Given the description of an element on the screen output the (x, y) to click on. 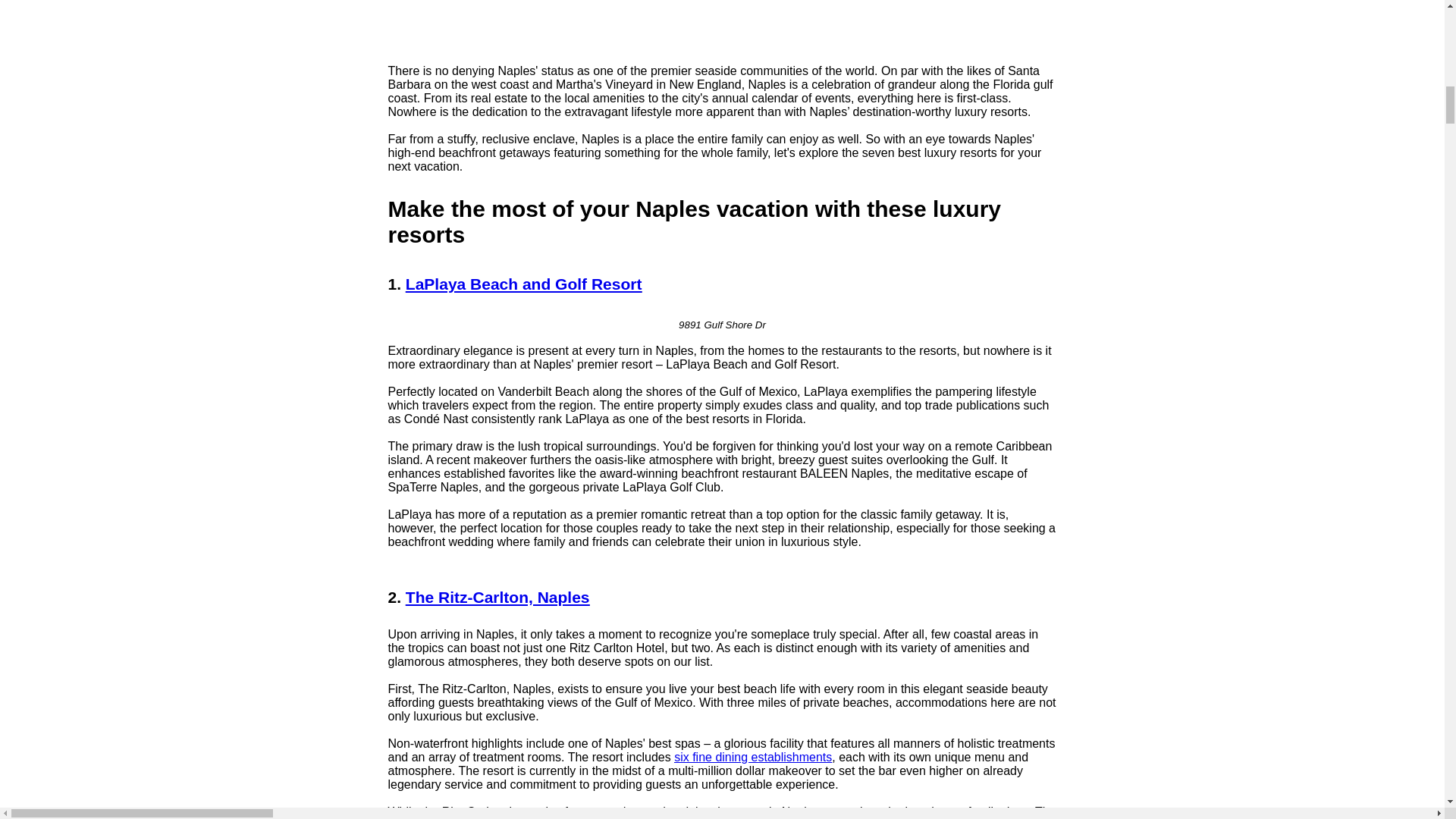
The Ritz-Carlton, Naples (497, 597)
LaPlaya Beach and Golf Resort (524, 283)
six fine dining establishments (752, 757)
